Given the description of an element on the screen output the (x, y) to click on. 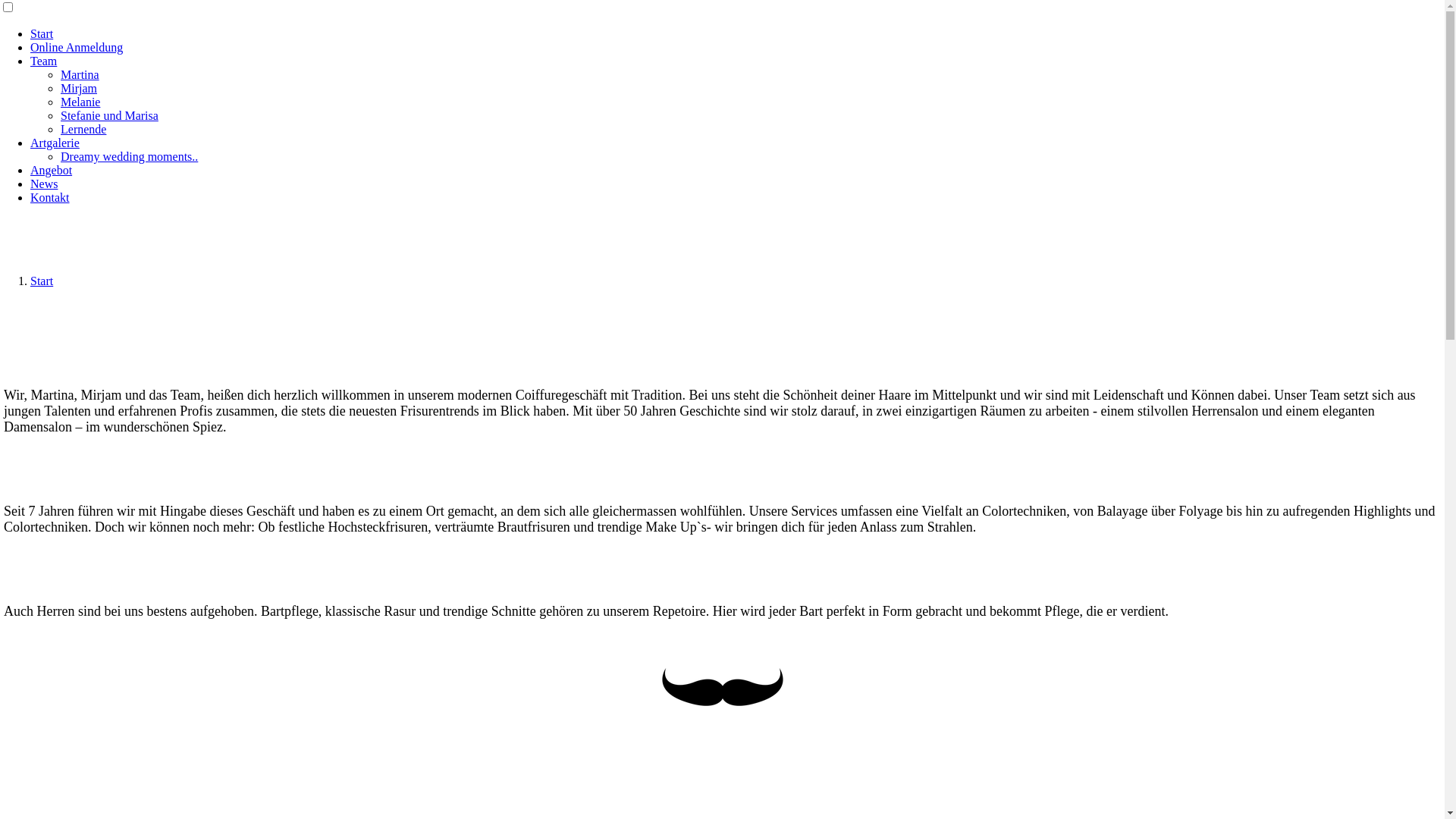
News Element type: text (43, 183)
Stefanie und Marisa Element type: text (109, 115)
Melanie Element type: text (80, 101)
Start Element type: text (41, 280)
Online Anmeldung Element type: text (76, 46)
Dreamy wedding moments.. Element type: text (128, 156)
Martina Element type: text (79, 74)
Start Element type: text (41, 33)
Team Element type: text (43, 60)
Lernende Element type: text (83, 128)
Angebot Element type: text (51, 169)
Artgalerie Element type: text (54, 142)
Mirjam Element type: text (78, 87)
Kontakt Element type: text (49, 197)
